Given the description of an element on the screen output the (x, y) to click on. 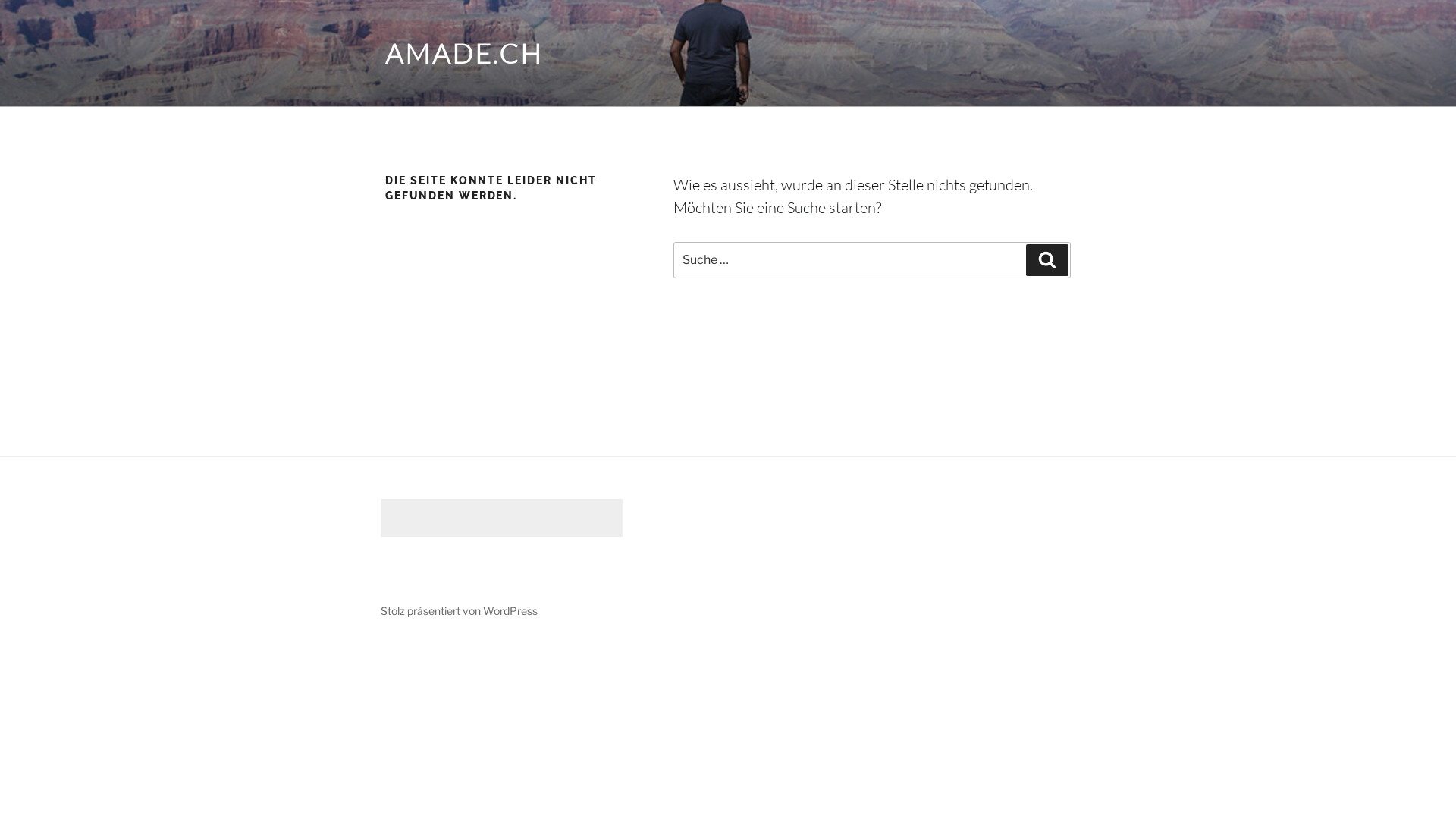
Advertisement Element type: hover (501, 517)
Suche Element type: text (1047, 260)
AMADE.CH Element type: text (463, 52)
